Given the description of an element on the screen output the (x, y) to click on. 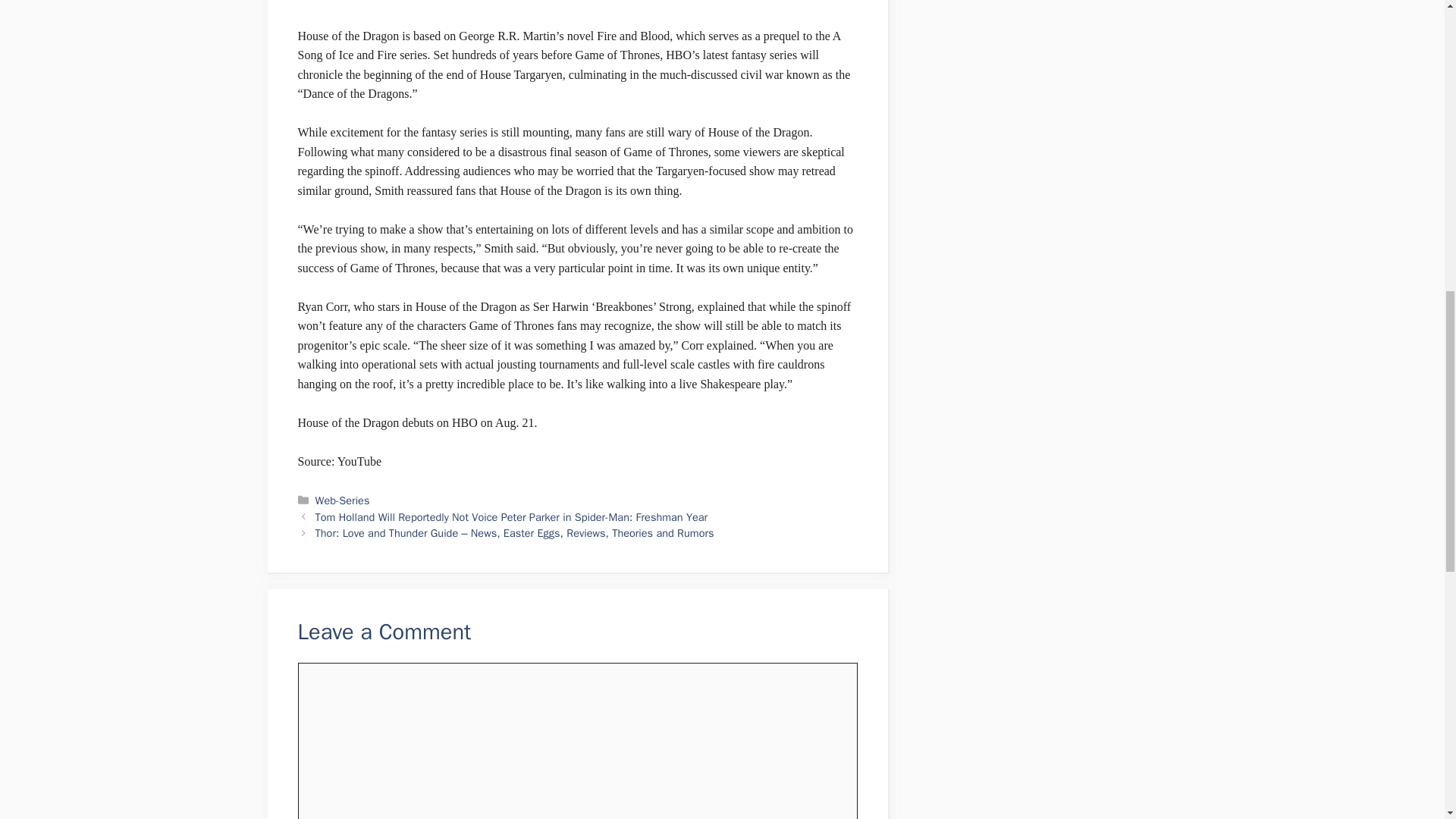
Web-Series (342, 499)
Scroll back to top (1406, 720)
